Given the description of an element on the screen output the (x, y) to click on. 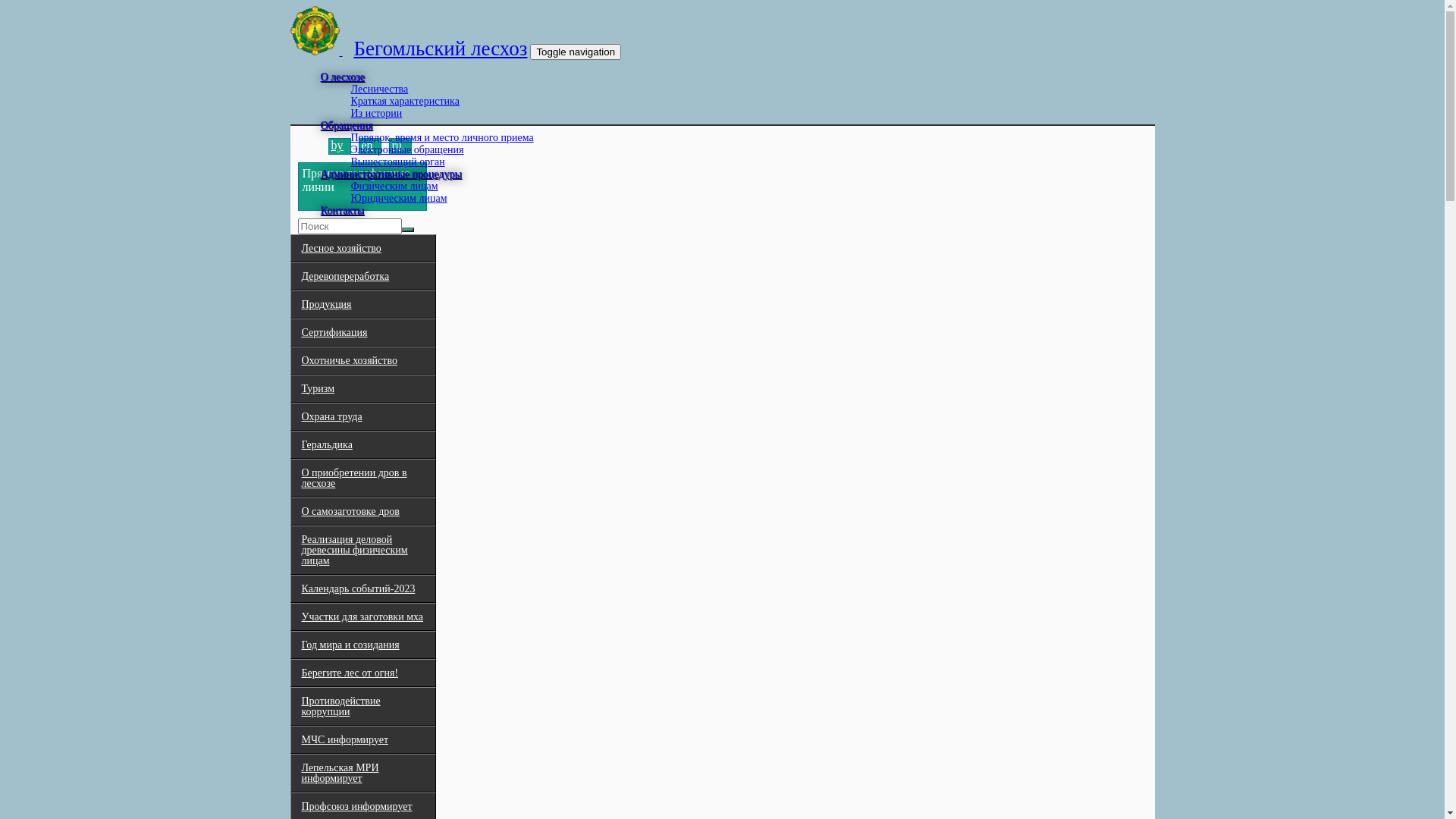
ru Element type: text (396, 144)
en Element type: text (366, 144)
by Element type: text (336, 144)
Toggle navigation Element type: text (575, 51)
